Given the description of an element on the screen output the (x, y) to click on. 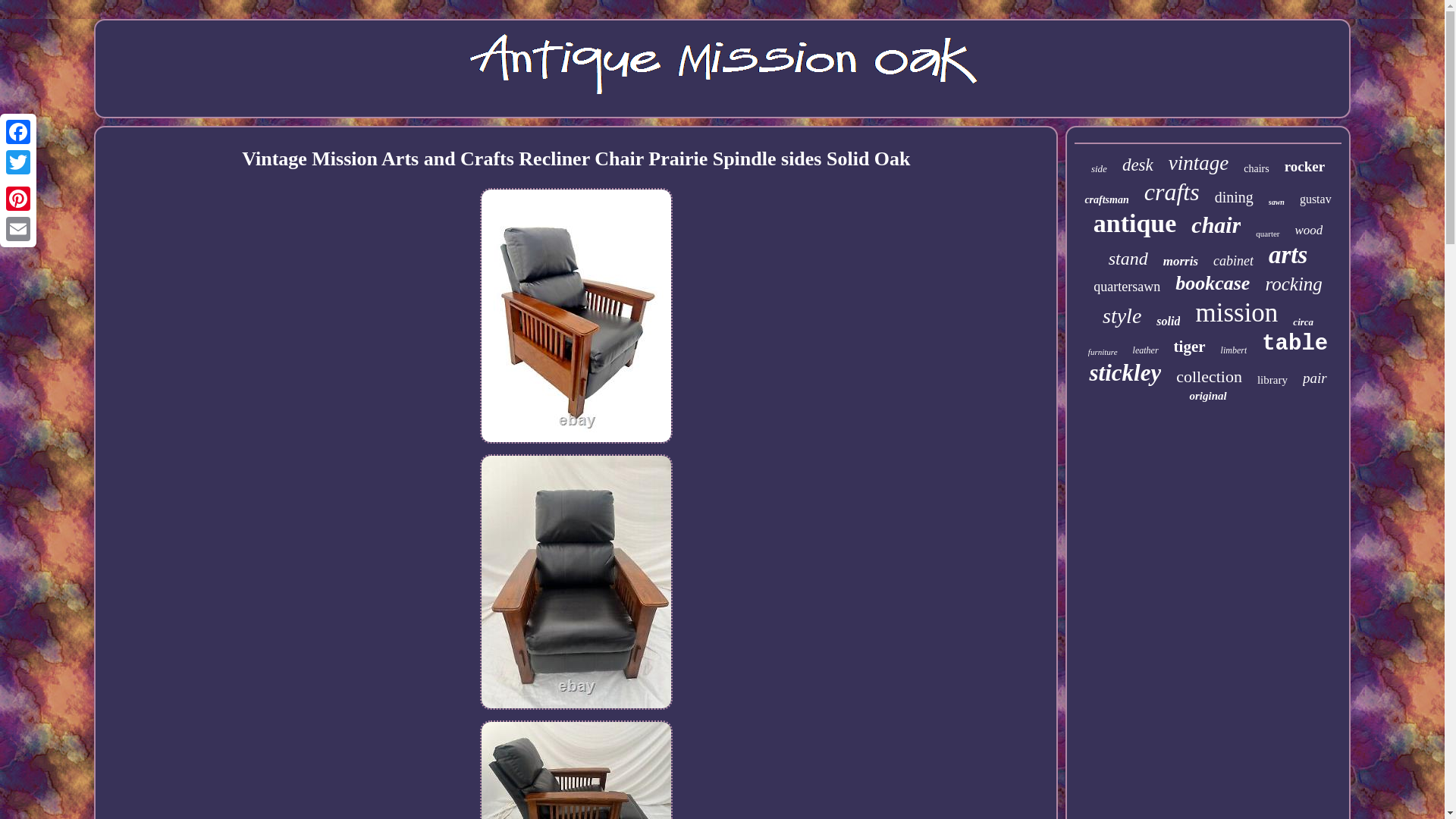
solid (1167, 321)
Email (17, 228)
craftsman (1106, 200)
Twitter (17, 162)
cabinet (1232, 261)
bookcase (1211, 282)
Facebook (17, 132)
circa (1302, 322)
stand (1128, 258)
chair (1215, 225)
